Given the description of an element on the screen output the (x, y) to click on. 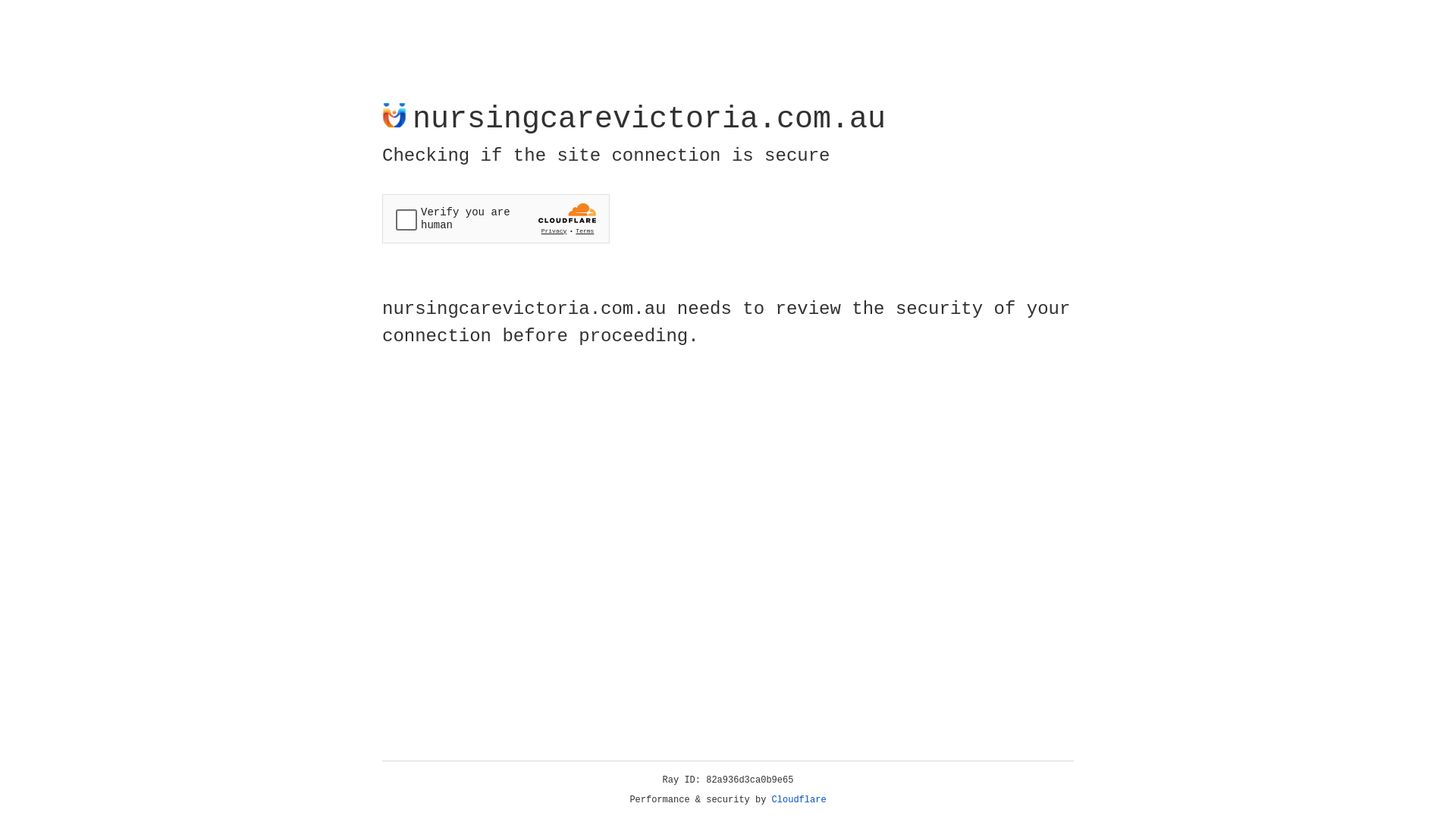
Widget containing a Cloudflare security challenge Element type: hover (495, 218)
Cloudflare Element type: text (798, 799)
